Given the description of an element on the screen output the (x, y) to click on. 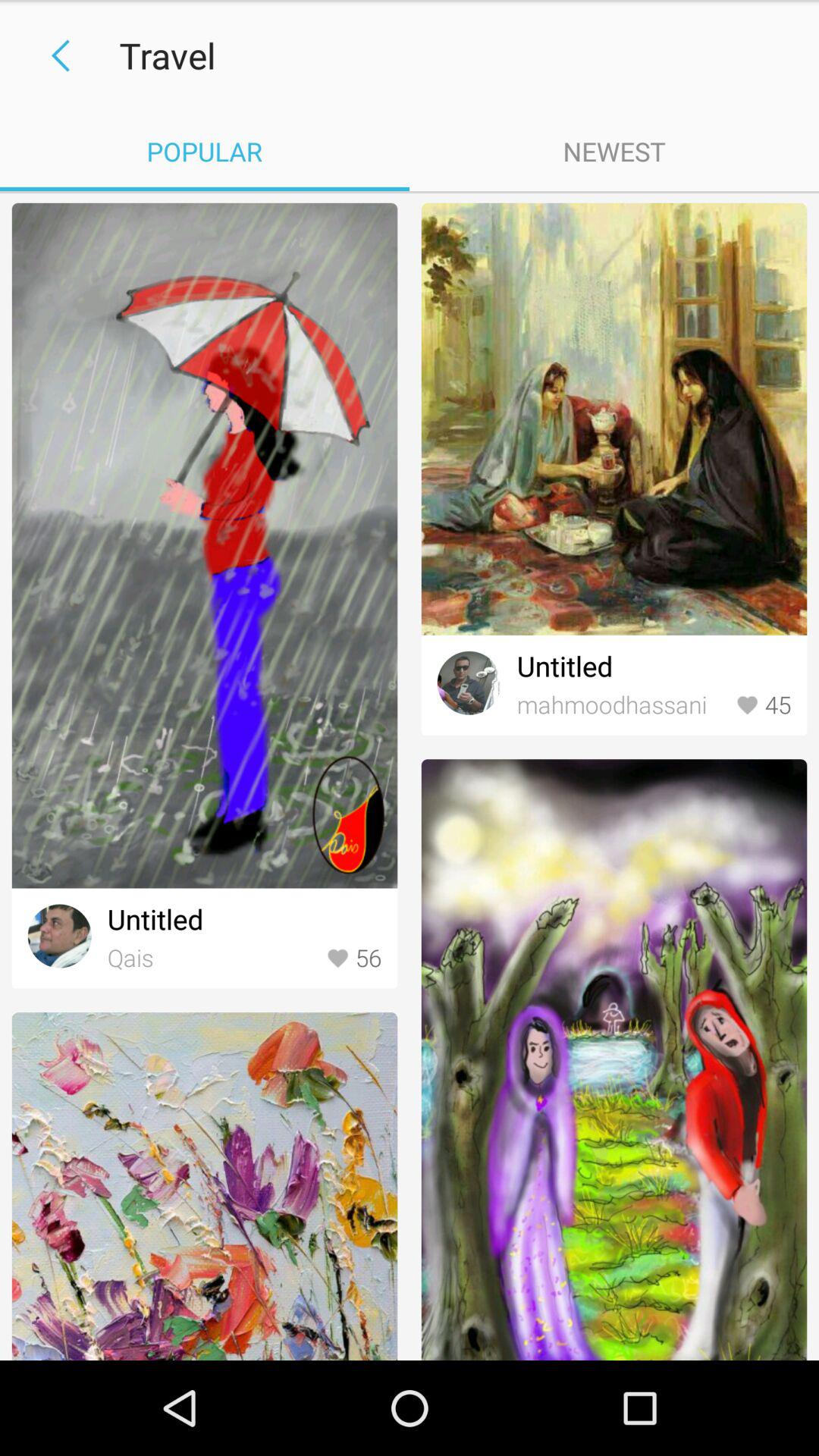
open the item below untitled icon (622, 705)
